Given the description of an element on the screen output the (x, y) to click on. 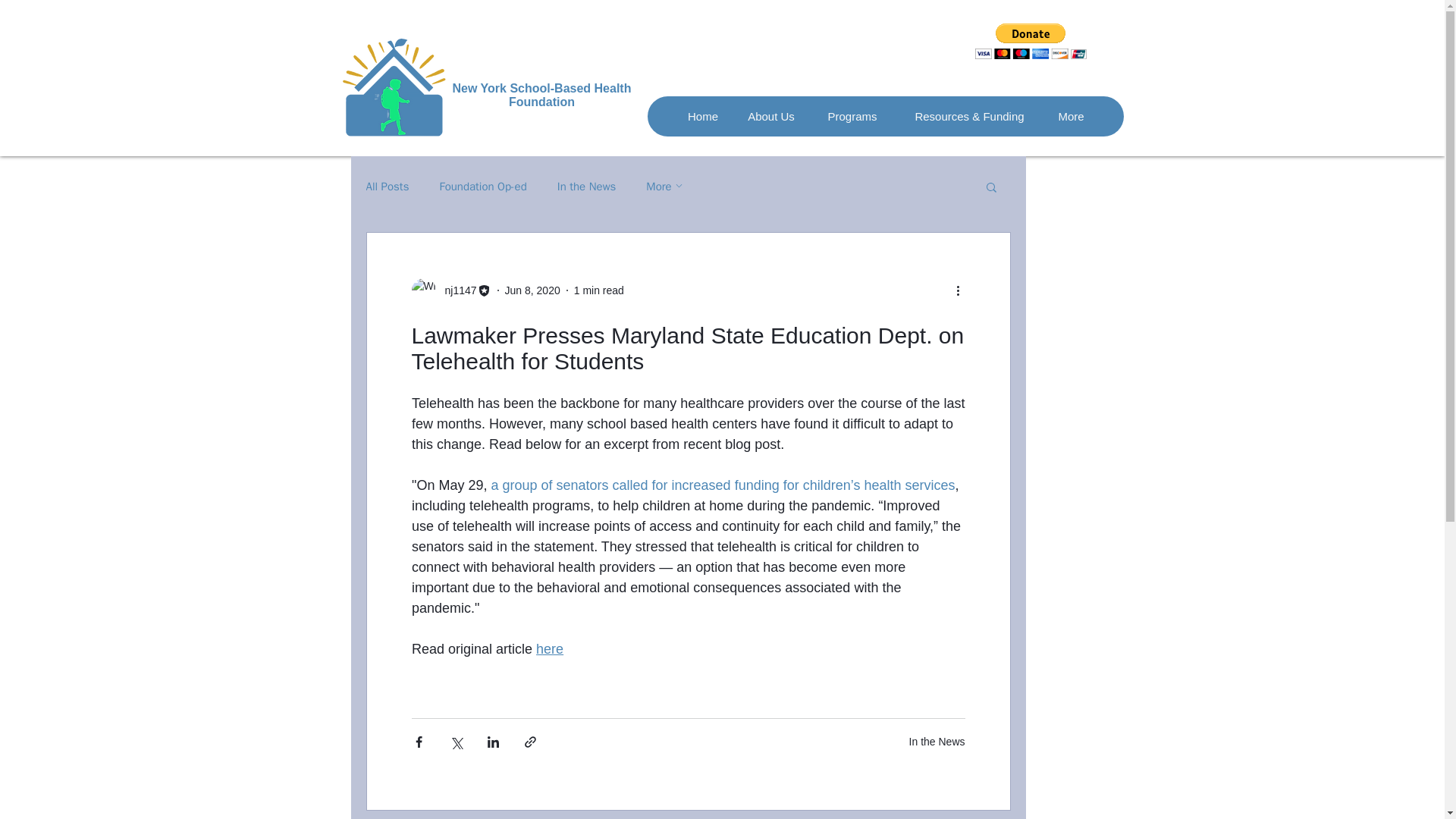
In the News (936, 741)
Foundation Op-ed (482, 186)
All Posts (387, 186)
In the News (586, 186)
here (549, 648)
1 min read (598, 289)
New York School-Based Health Foundation (541, 94)
nj1147 (455, 289)
Home (702, 116)
Programs (852, 116)
About Us (770, 116)
Jun 8, 2020 (532, 289)
nj1147 (450, 290)
